Given the description of an element on the screen output the (x, y) to click on. 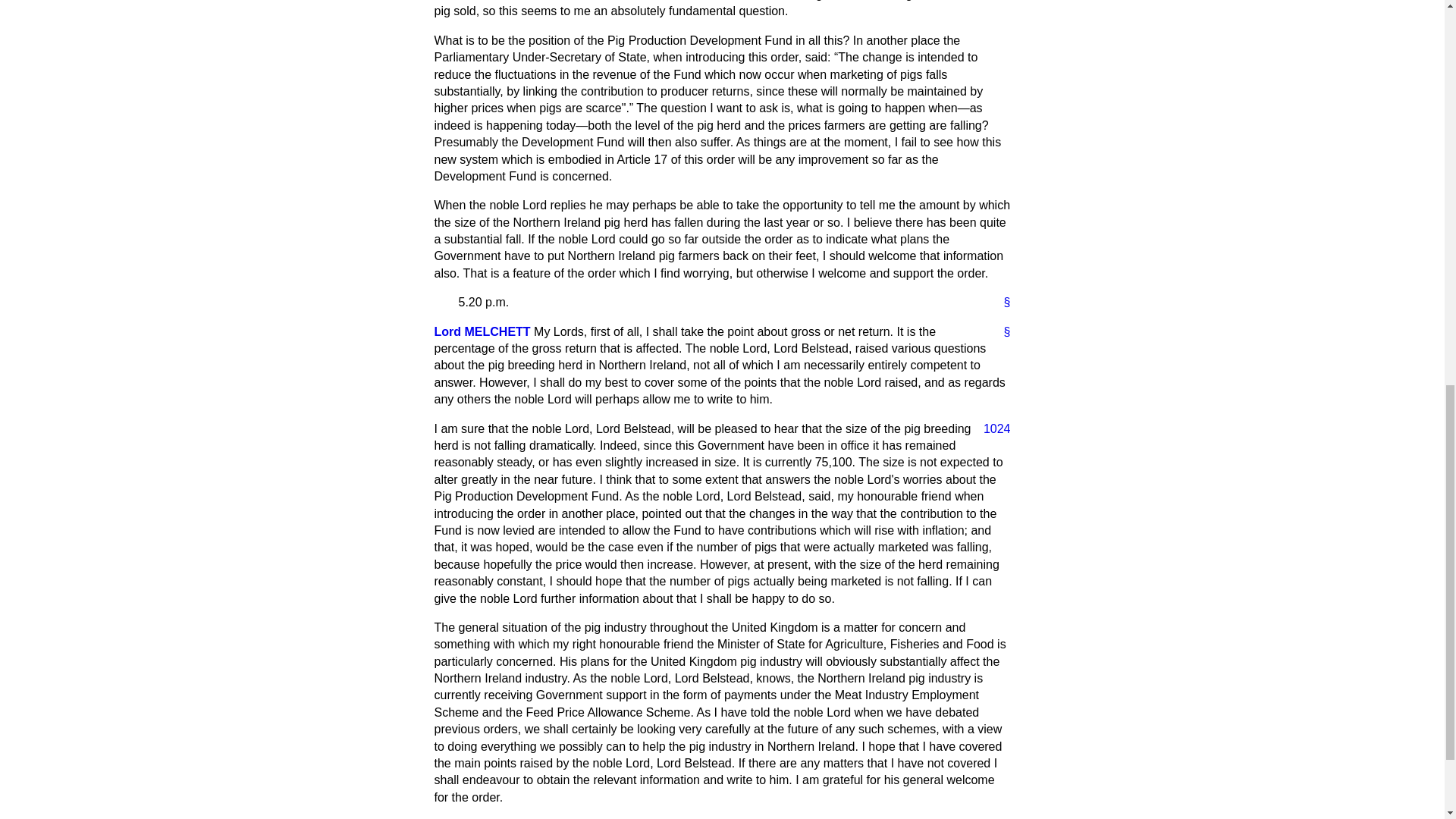
Mr Peter Mond (481, 331)
Link to this contribution (1000, 302)
1024 (990, 428)
Link to this speech by Mr Peter Mond (1000, 331)
Lord MELCHETT (481, 331)
